Given the description of an element on the screen output the (x, y) to click on. 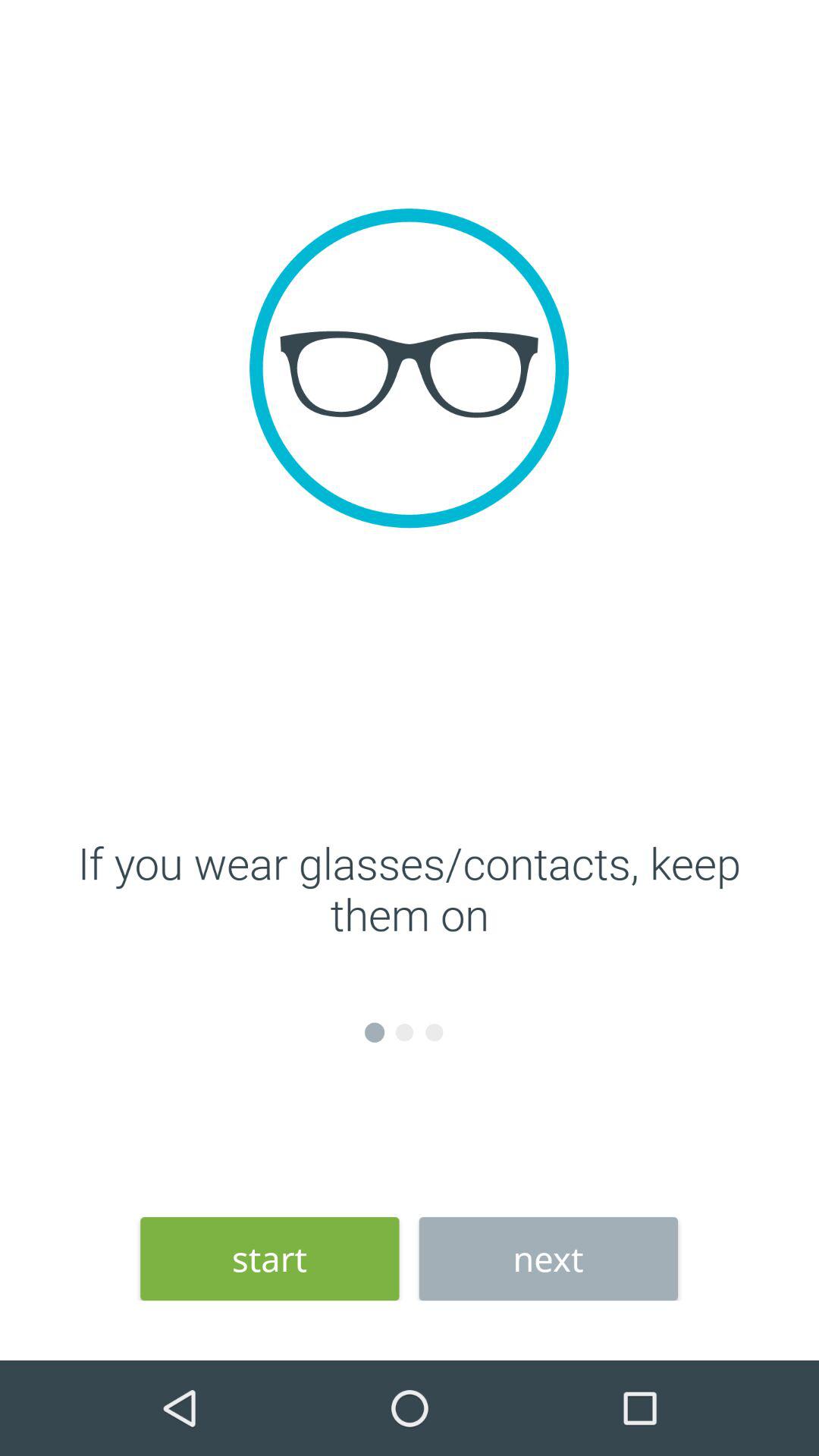
jump until next icon (548, 1258)
